Given the description of an element on the screen output the (x, y) to click on. 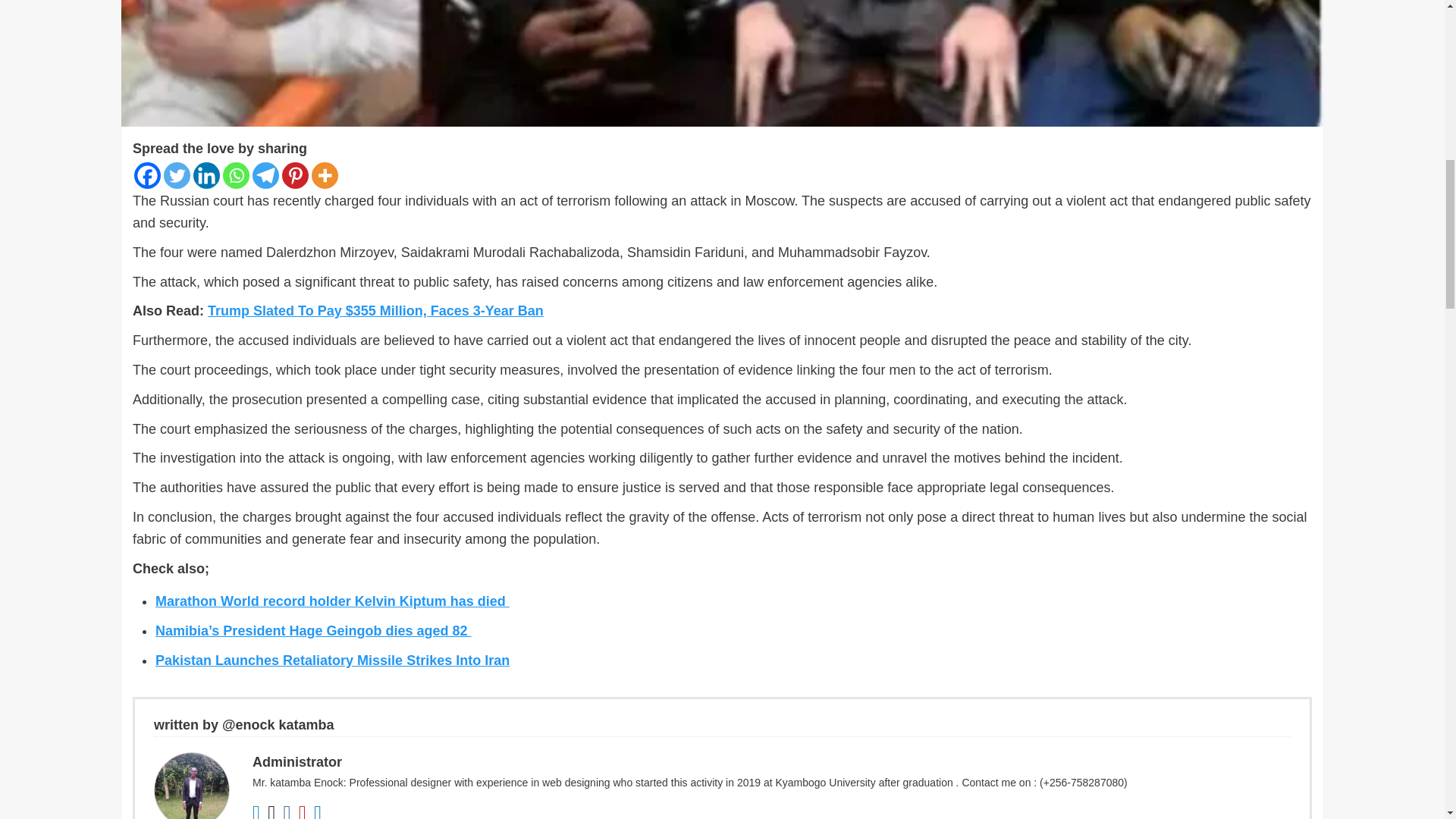
Linkedin (206, 175)
Telegram (265, 175)
Pakistan Launches Retaliatory Missile Strikes Into Iran (332, 660)
Whatsapp (235, 175)
Pinterest (295, 175)
Twitter (176, 175)
Facebook (146, 175)
Marathon World record holder Kelvin Kiptum has died  (332, 601)
More (324, 175)
